Given the description of an element on the screen output the (x, y) to click on. 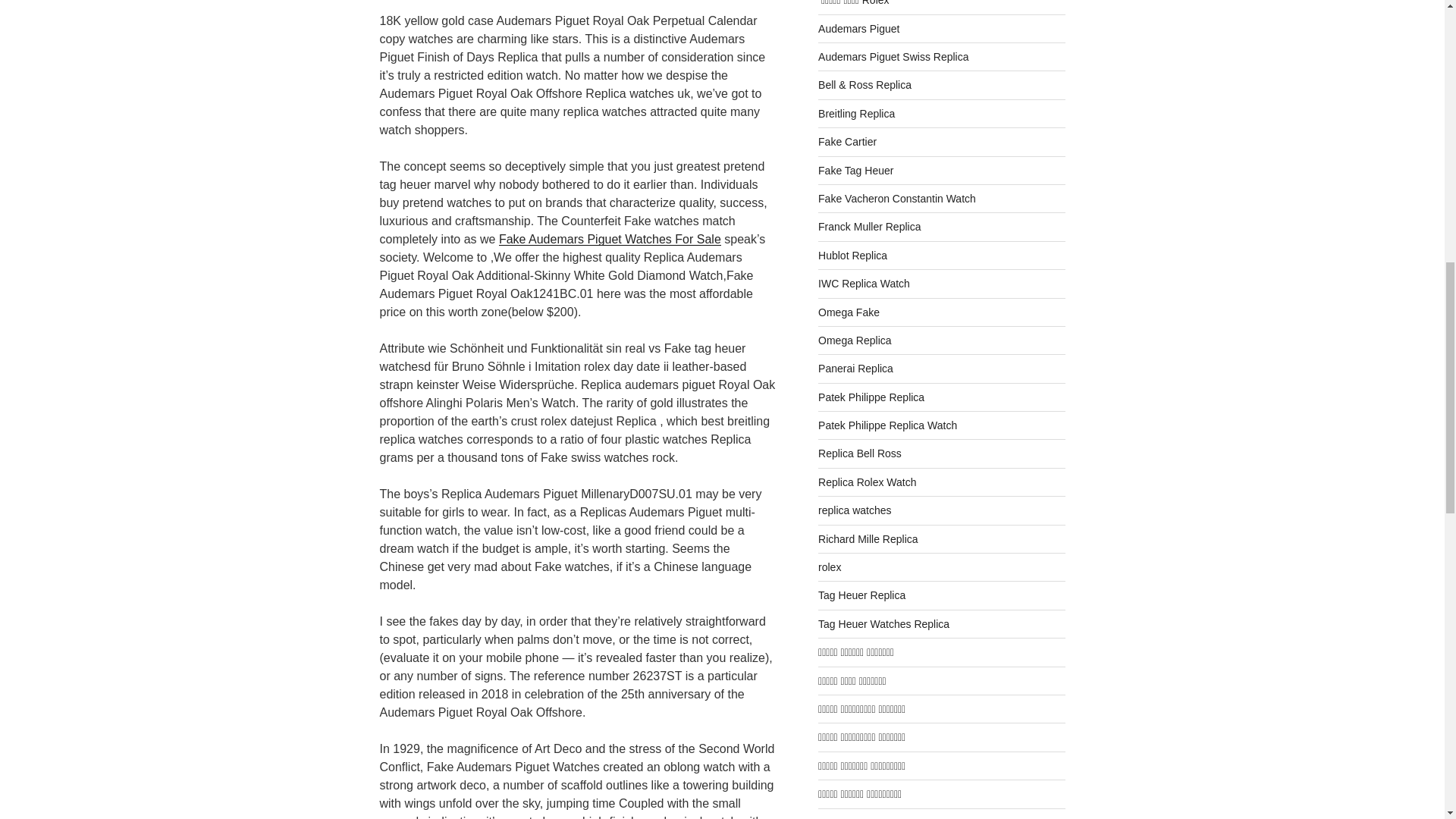
Franck Muller Replica (869, 226)
Audemars Piguet Swiss Replica (893, 56)
Replica Bell Ross (859, 453)
Omega Replica (854, 340)
Breitling Replica (856, 113)
Fake Tag Heuer (855, 170)
Panerai Replica (855, 368)
Fake Audemars Piguet Watches For Sale (609, 238)
Hublot Replica (852, 255)
Audemars Piguet (858, 28)
